Given the description of an element on the screen output the (x, y) to click on. 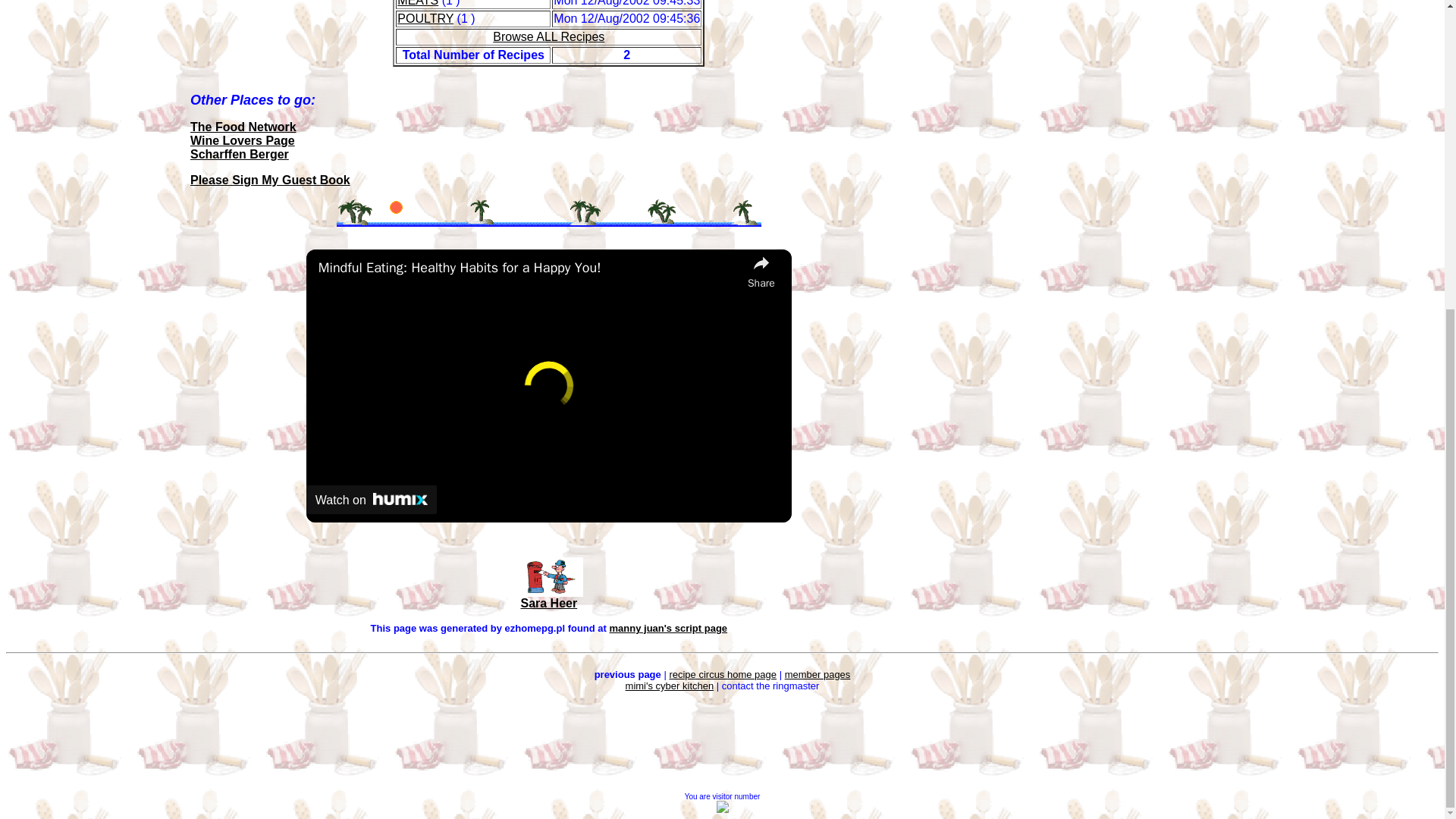
manny juan's script page (669, 627)
The Food Network (243, 126)
Browse ALL Recipes (548, 36)
Watch on (370, 499)
Wine Lovers Page (242, 140)
Mindful Eating: Healthy Habits for a Happy You! (528, 267)
Please Sign My Guest Book (270, 179)
contact the ringmaster (770, 685)
mimi's cyber kitchen (670, 685)
Scharffen Berger (239, 154)
Sara Heer (547, 603)
previous page (627, 674)
POULTRY (424, 18)
recipe circus home page (722, 674)
member pages (817, 674)
